Given the description of an element on the screen output the (x, y) to click on. 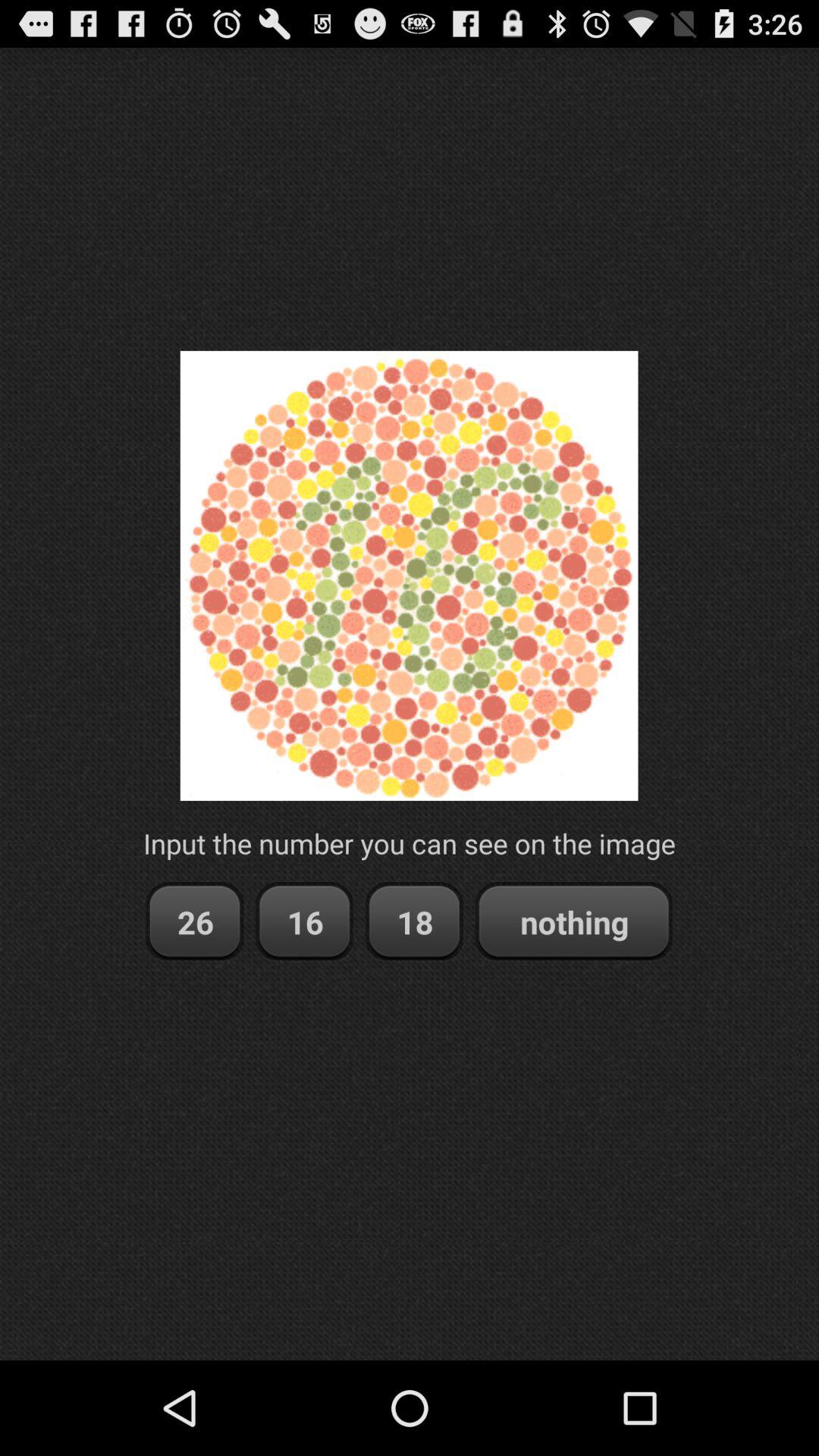
tap the 18 item (414, 921)
